Given the description of an element on the screen output the (x, y) to click on. 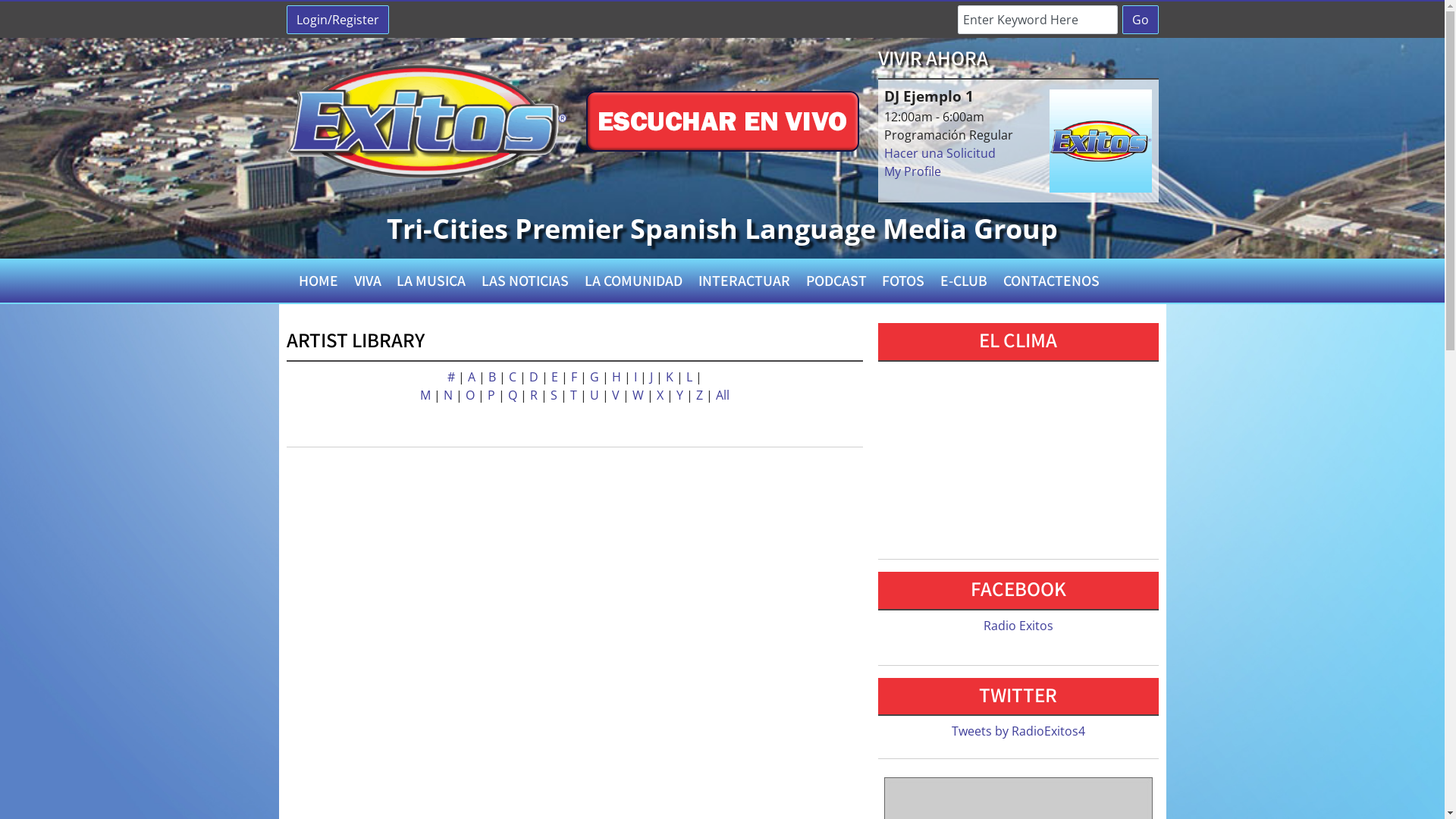
LA MUSICA Element type: text (431, 280)
R Element type: text (534, 394)
# Element type: text (452, 376)
S Element type: text (555, 394)
LA COMUNIDAD Element type: text (633, 280)
M Element type: text (426, 394)
I Element type: text (636, 376)
V Element type: text (616, 394)
Tweets by RadioExitos4 Element type: text (1017, 730)
P Element type: text (491, 394)
X Element type: text (661, 394)
D Element type: text (535, 376)
E-CLUB Element type: text (963, 280)
L Element type: text (689, 376)
O Element type: text (471, 394)
N Element type: text (448, 394)
E Element type: text (555, 376)
B Element type: text (493, 376)
W Element type: text (639, 394)
Enter Keyword Here Element type: text (1037, 19)
FOTOS Element type: text (903, 280)
Z Element type: text (701, 394)
All Element type: text (722, 394)
H Element type: text (617, 376)
Y Element type: text (681, 394)
G Element type: text (595, 376)
C Element type: text (513, 376)
T Element type: text (575, 394)
The latest weather for kennewick Element type: text (1018, 532)
INTERACTUAR Element type: text (743, 280)
Login/Register Element type: text (337, 19)
Hacer una Solicitud Element type: text (939, 152)
Go Element type: text (1140, 19)
F Element type: text (574, 376)
A Element type: text (472, 376)
U Element type: text (595, 394)
LAS NOTICIAS Element type: text (525, 280)
My Profile Element type: text (912, 171)
VIVA Element type: text (367, 280)
Radio Exitos Element type: text (1017, 625)
J Element type: text (652, 376)
PODCAST Element type: text (835, 280)
K Element type: text (670, 376)
HOME Element type: text (318, 280)
Q Element type: text (514, 394)
CONTACTENOS Element type: text (1051, 280)
